Given the description of an element on the screen output the (x, y) to click on. 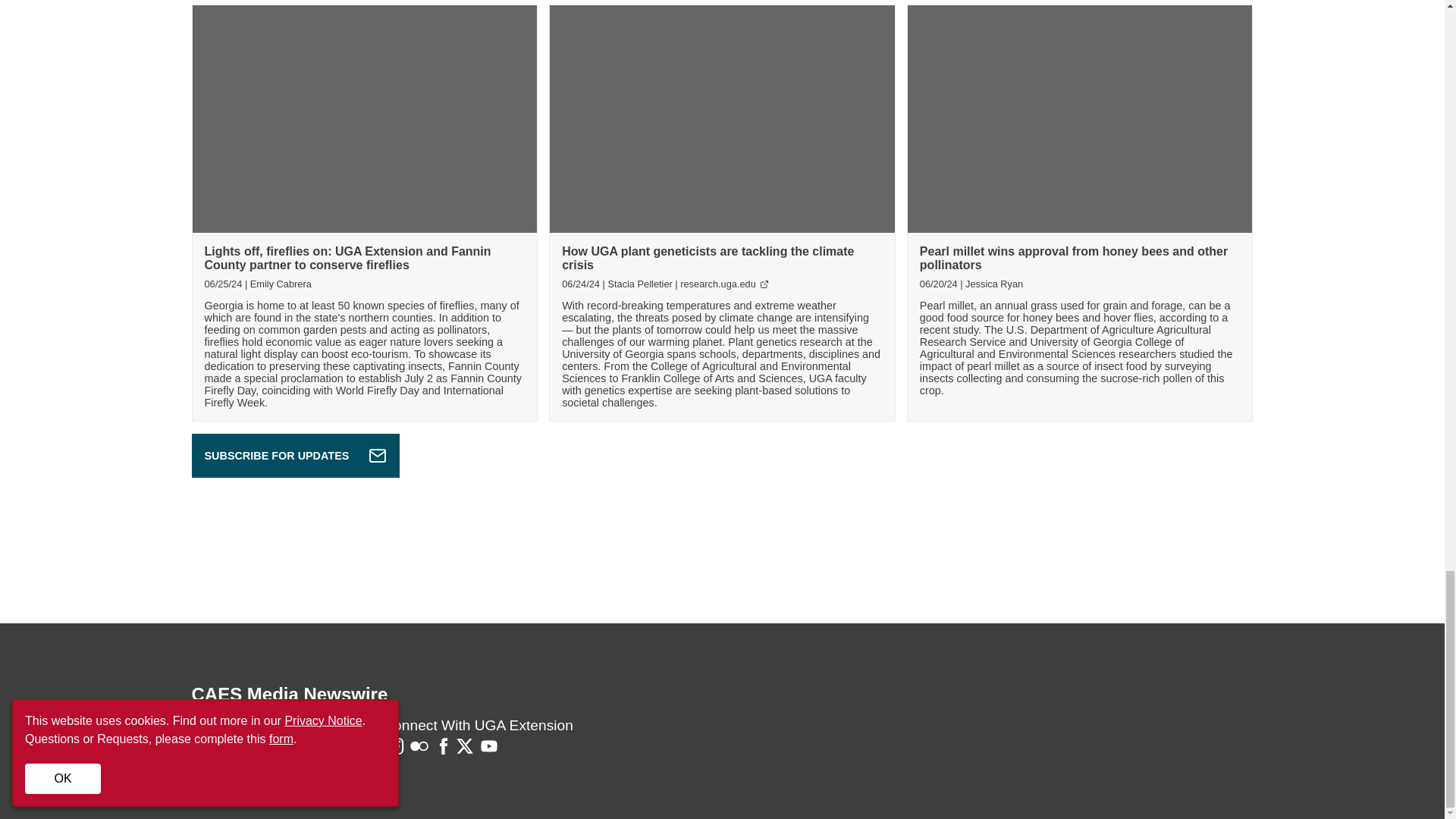
How UGA plant geneticists are tackling the climate crisis (707, 257)
SUBSCRIBE FOR UPDATES (294, 455)
